Given the description of an element on the screen output the (x, y) to click on. 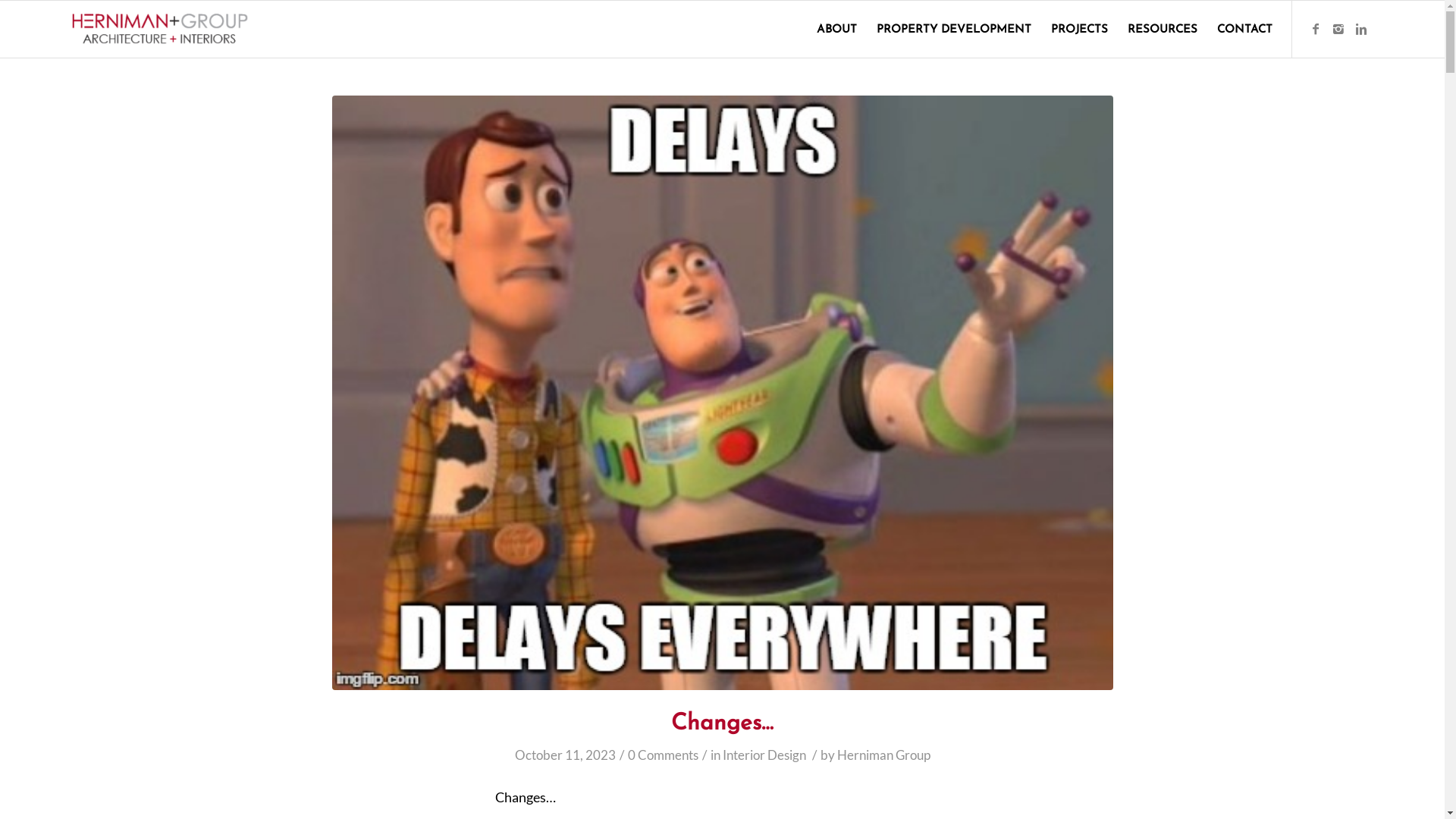
Architecture Melbourne NCC Changes Article  Element type: hover (722, 392)
Facebook Element type: hover (1315, 27)
0 Comments Element type: text (662, 754)
CONTACT Element type: text (1239, 28)
RESOURCES Element type: text (1162, 28)
PROPERTY DEVELOPMENT Element type: text (953, 28)
ABOUT Element type: text (836, 28)
Herniman Group Element type: text (883, 754)
Interior Design Element type: text (763, 754)
Linkedin Element type: hover (1360, 27)
PROJECTS Element type: text (1079, 28)
Instagram Element type: hover (1338, 27)
